Given the description of an element on the screen output the (x, y) to click on. 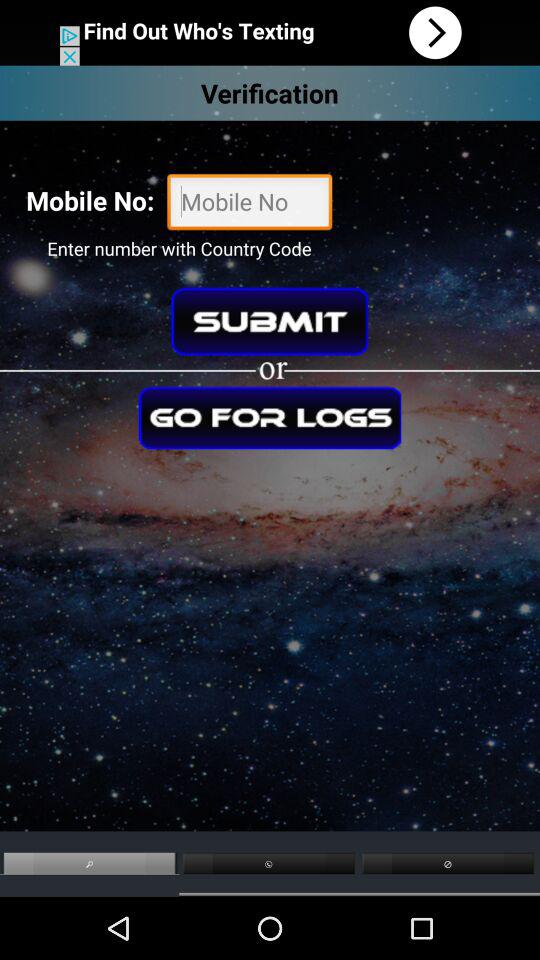
enter mobile number (249, 204)
